Given the description of an element on the screen output the (x, y) to click on. 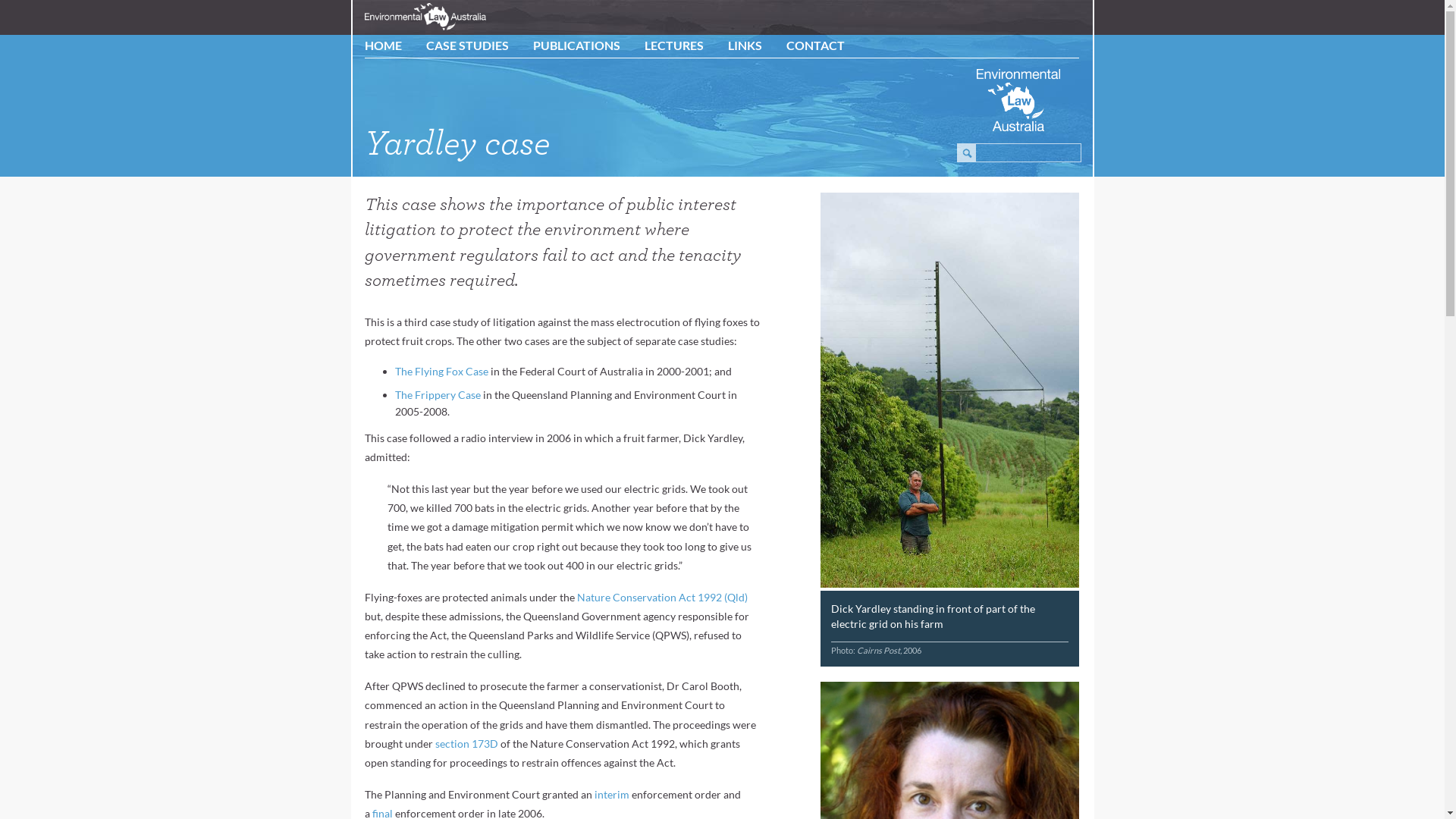
PUBLICATIONS Element type: text (576, 44)
1992 (Qld) Element type: text (722, 596)
CASE STUDIES Element type: text (467, 44)
interim Element type: text (611, 793)
LINKS Element type: text (745, 44)
Nature Conservation Act  Element type: text (637, 596)
LECTURES Element type: text (673, 44)
The Flying Fox Case Element type: text (441, 370)
CONTACT Element type: text (815, 44)
section 173D Element type: text (466, 743)
The Frippery Case Element type: text (437, 394)
HOME Element type: text (382, 44)
